Given the description of an element on the screen output the (x, y) to click on. 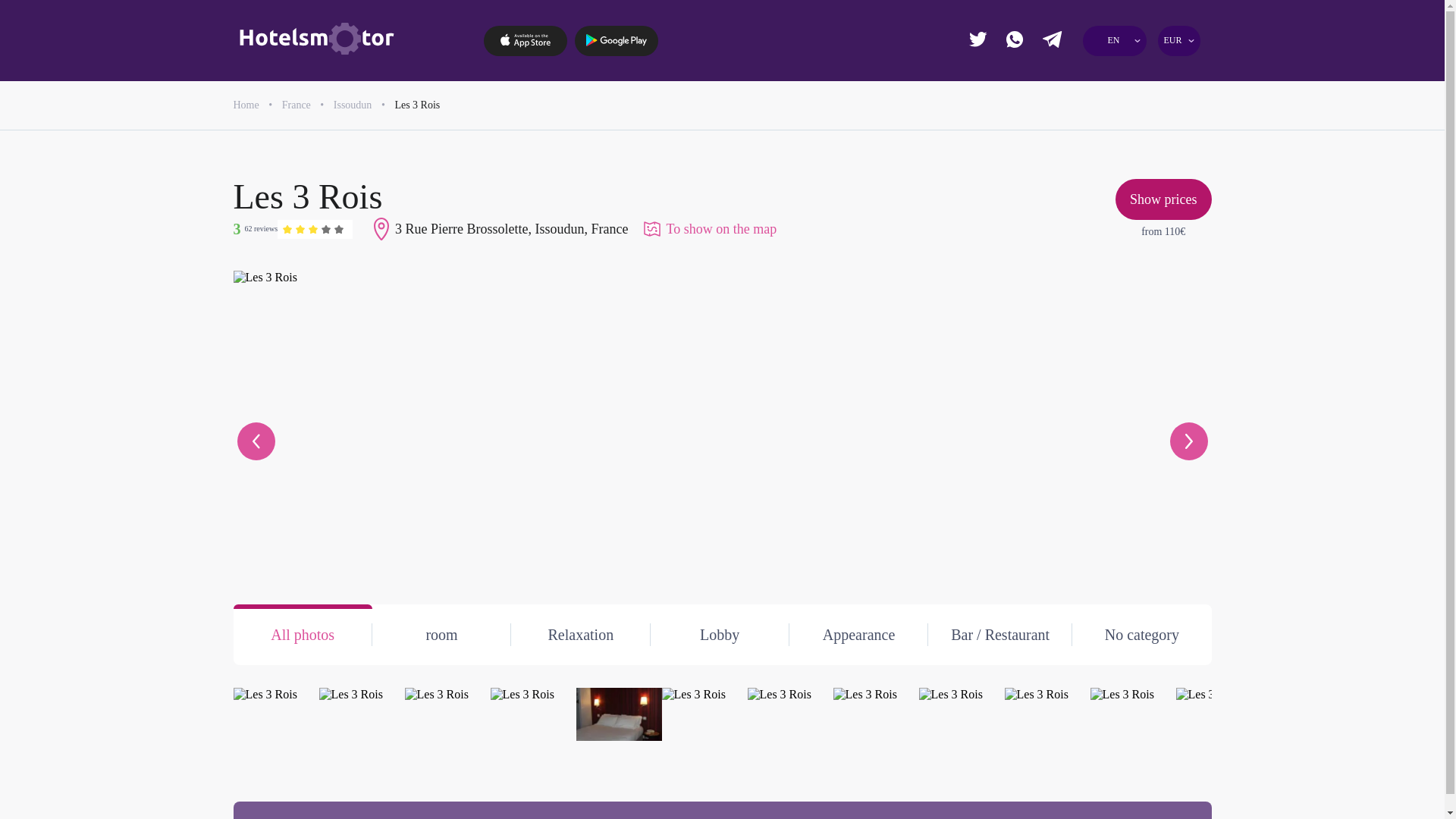
czk (1165, 76)
gbp (1110, 76)
eur (1055, 76)
sek (1110, 161)
try (1165, 161)
rub (1165, 131)
krw (1055, 161)
nok (1165, 104)
dkk (1055, 104)
pln (1055, 131)
